Given the description of an element on the screen output the (x, y) to click on. 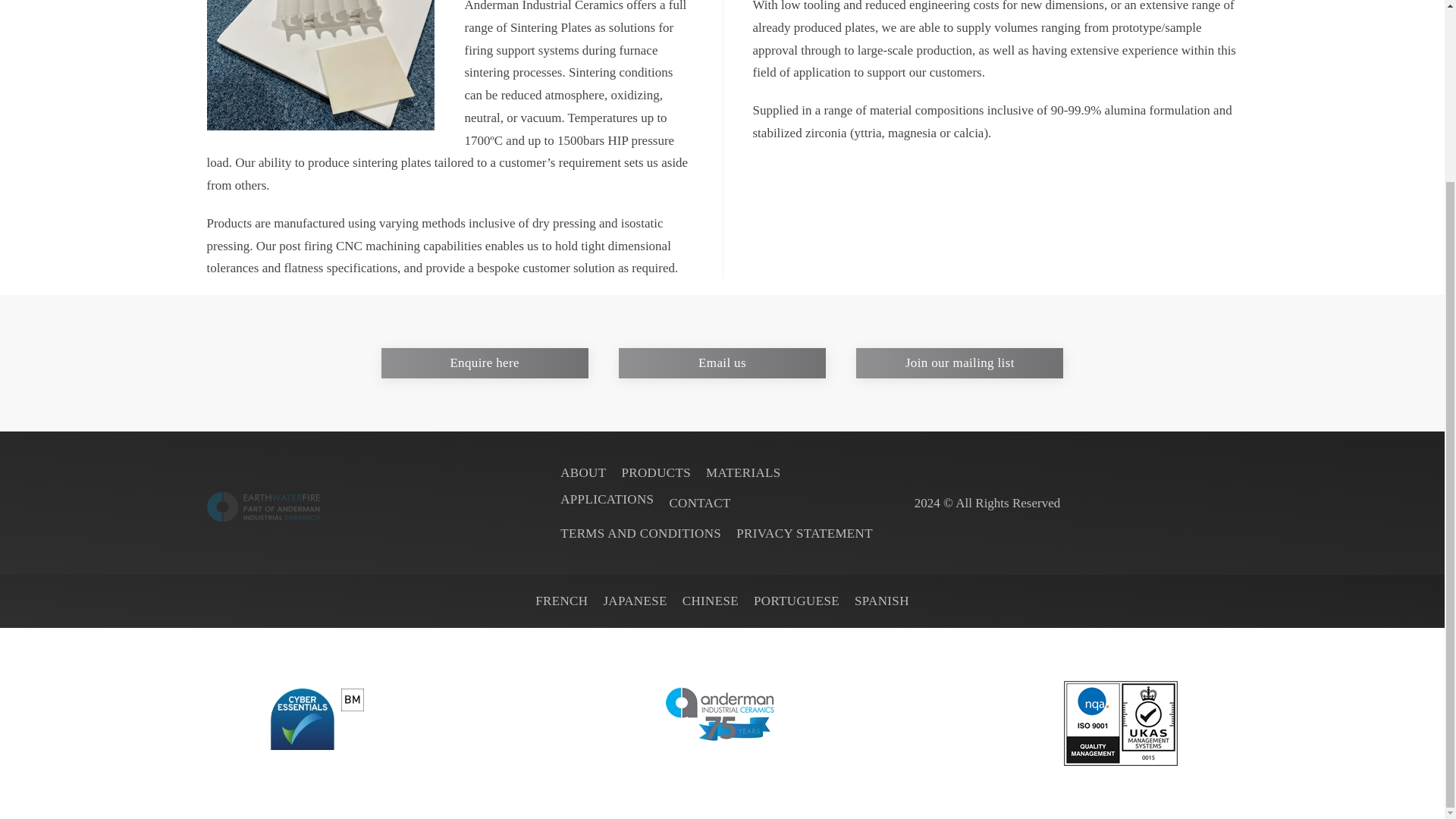
PORTUGUESE (797, 600)
PRODUCTS (655, 472)
MATERIALS (743, 472)
ABOUT (582, 472)
TERMS AND CONDITIONS (640, 533)
FRENCH (561, 600)
Enquire here (484, 363)
JAPANESE (634, 600)
Email us (721, 363)
APPLICATIONS (606, 499)
